Given the description of an element on the screen output the (x, y) to click on. 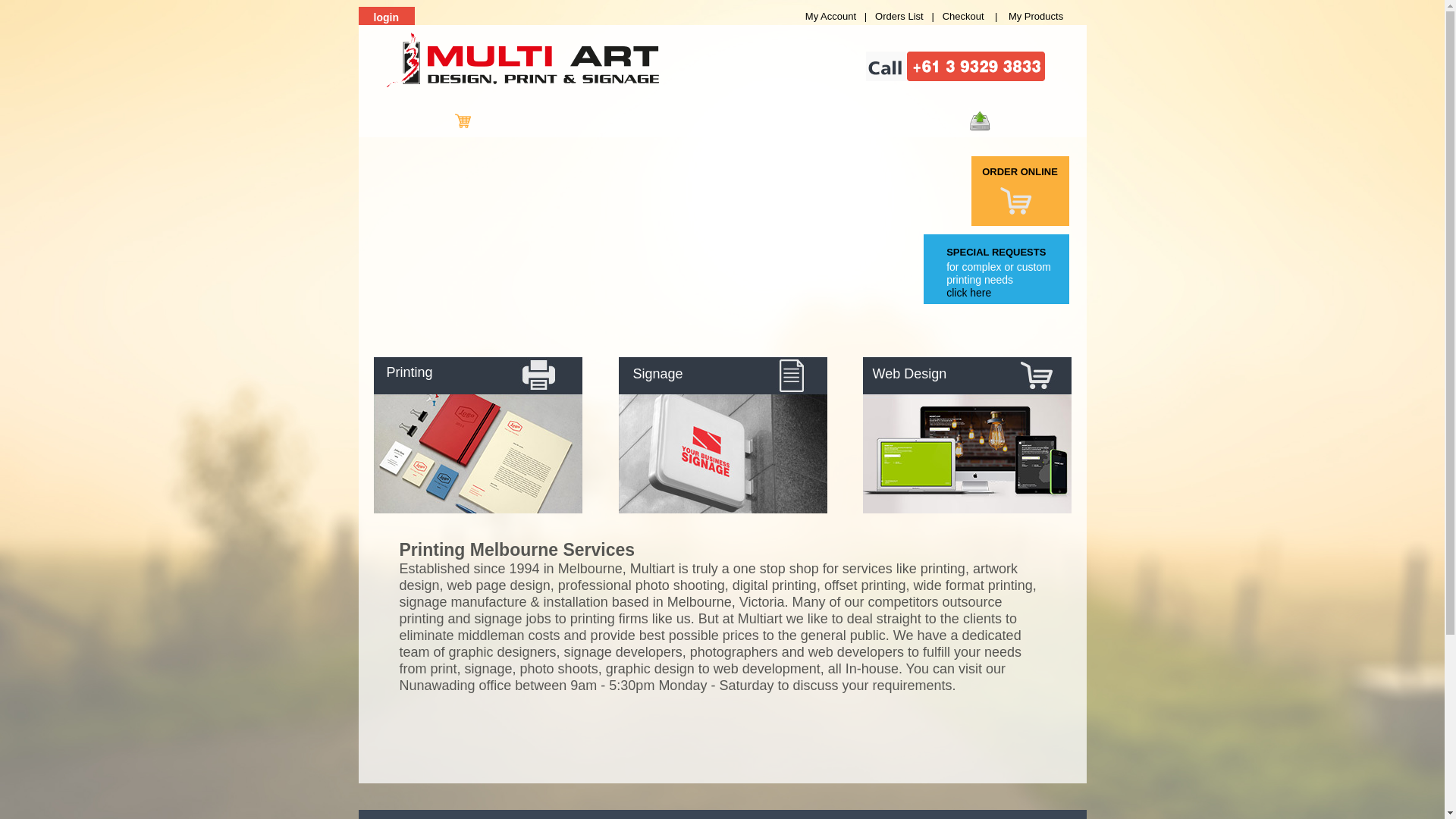
login Element type: text (396, 17)
My Products Element type: text (1035, 15)
Web Design Element type: text (945, 380)
Orders List Element type: text (900, 15)
Signage Element type: text (683, 380)
ORDER ONLINE Element type: text (1023, 172)
My Account Element type: text (832, 15)
Printing Element type: text (437, 379)
for complex or custom printing needs
click here
  Element type: text (1007, 286)
Checkout Element type: text (963, 15)
SPECIAL REQUESTS Element type: text (998, 252)
